Given the description of an element on the screen output the (x, y) to click on. 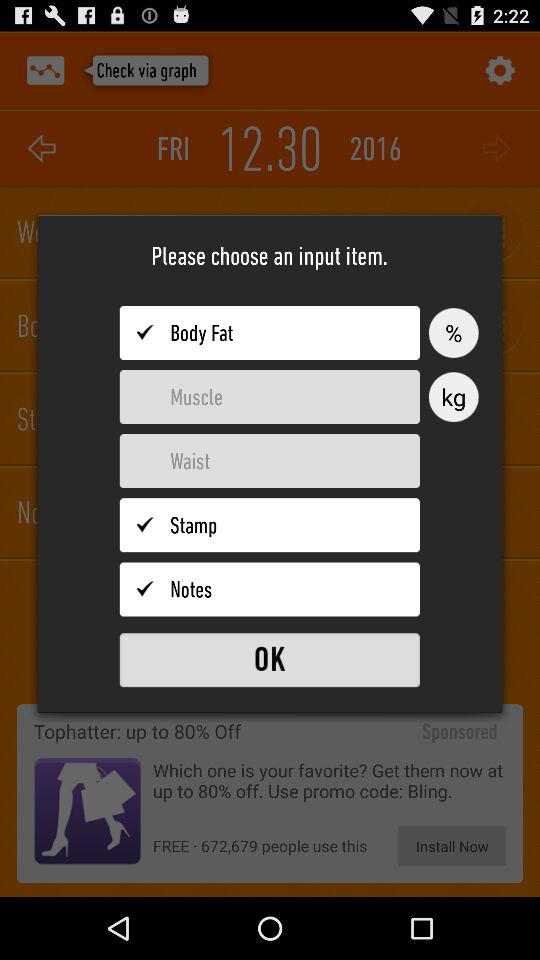
select icon below please choose an (453, 332)
